Given the description of an element on the screen output the (x, y) to click on. 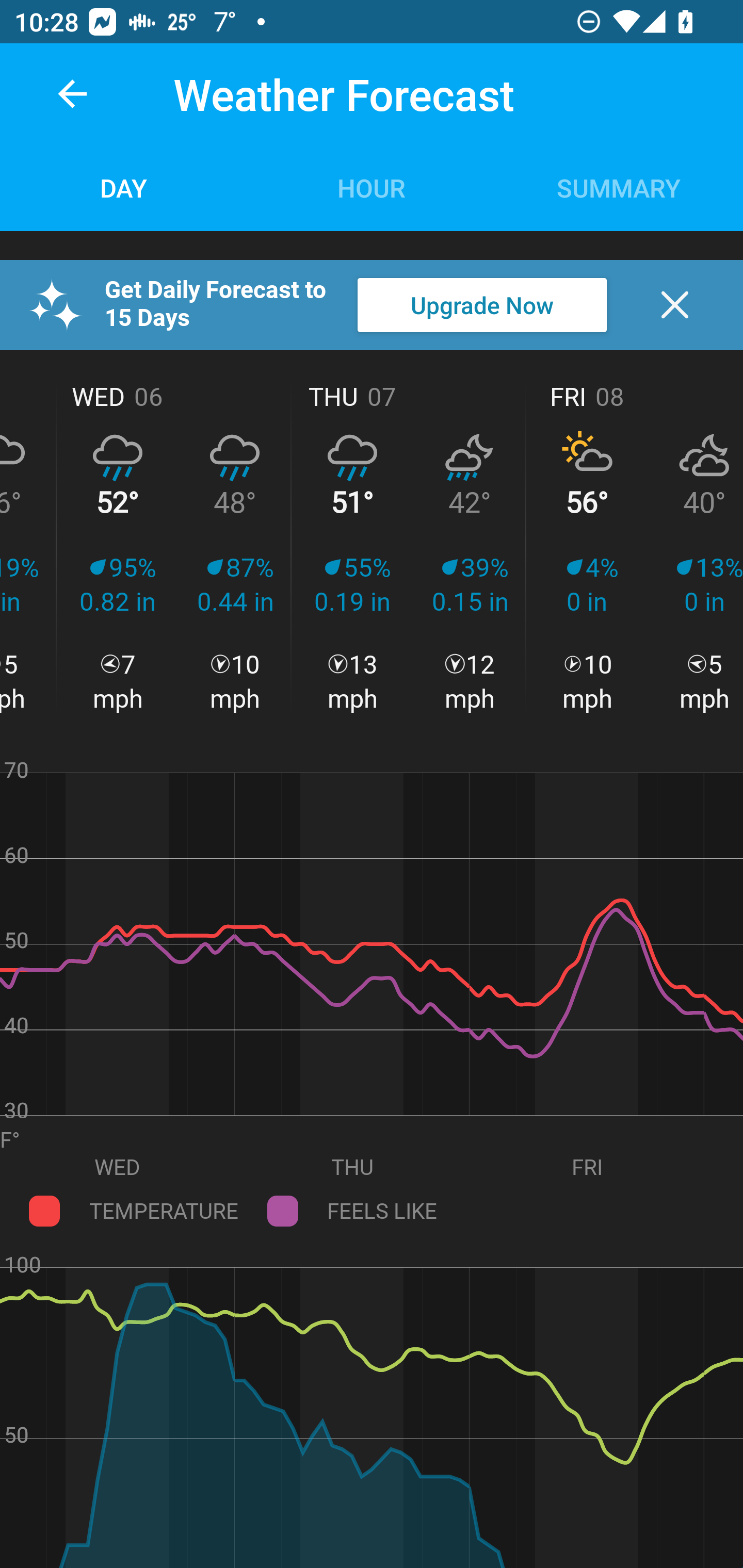
back (71, 93)
Hour Tab HOUR (371, 187)
Summary Tab SUMMARY (619, 187)
Upgrade Now (482, 304)
